Given the description of an element on the screen output the (x, y) to click on. 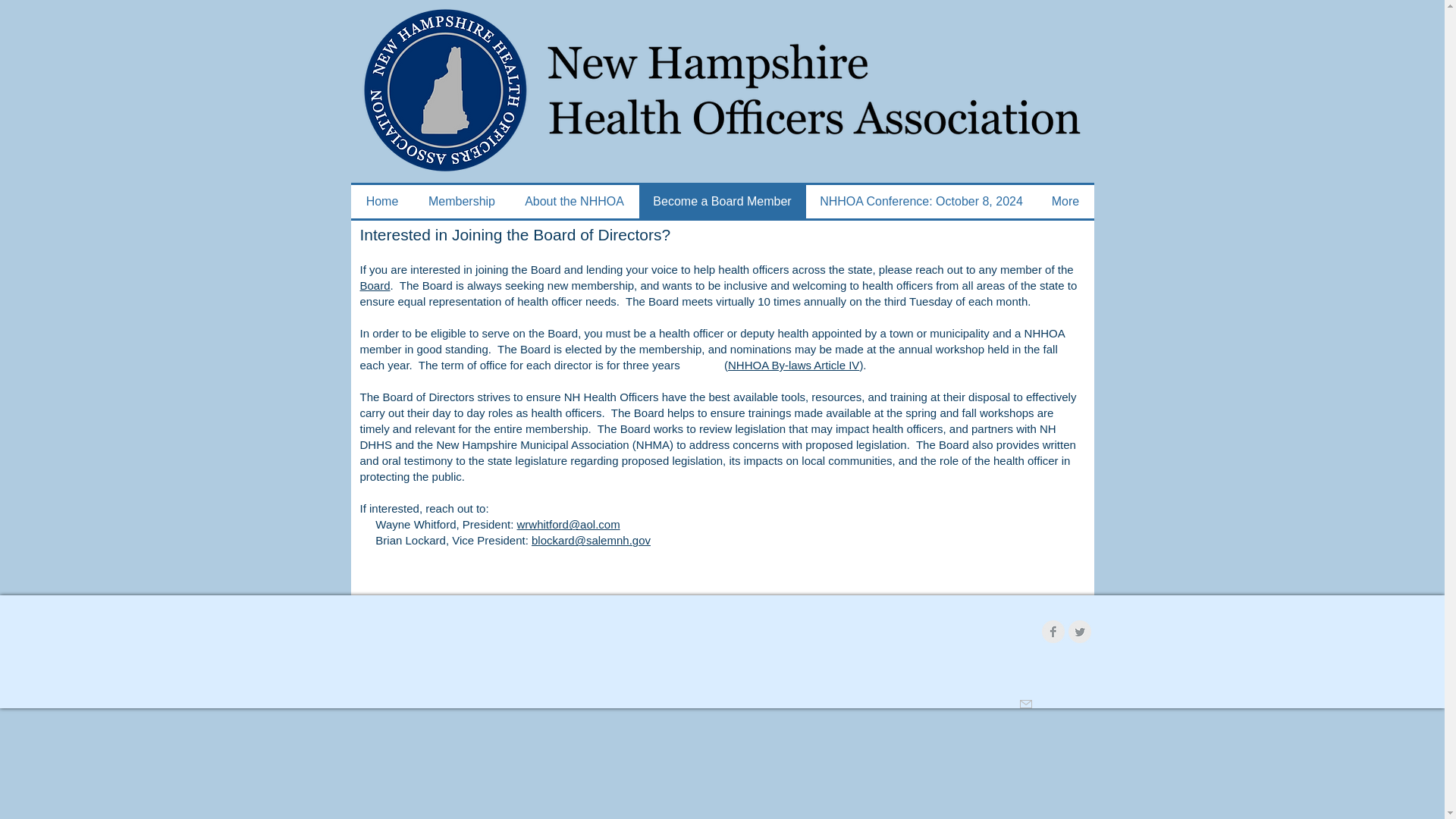
NHHOA Conference: October 8, 2024 (920, 201)
Home (381, 201)
Become a Board Member (722, 201)
Membership (462, 201)
NHHOA By-laws Article IV (793, 364)
About the NHHOA (574, 201)
Board (374, 285)
